Given the description of an element on the screen output the (x, y) to click on. 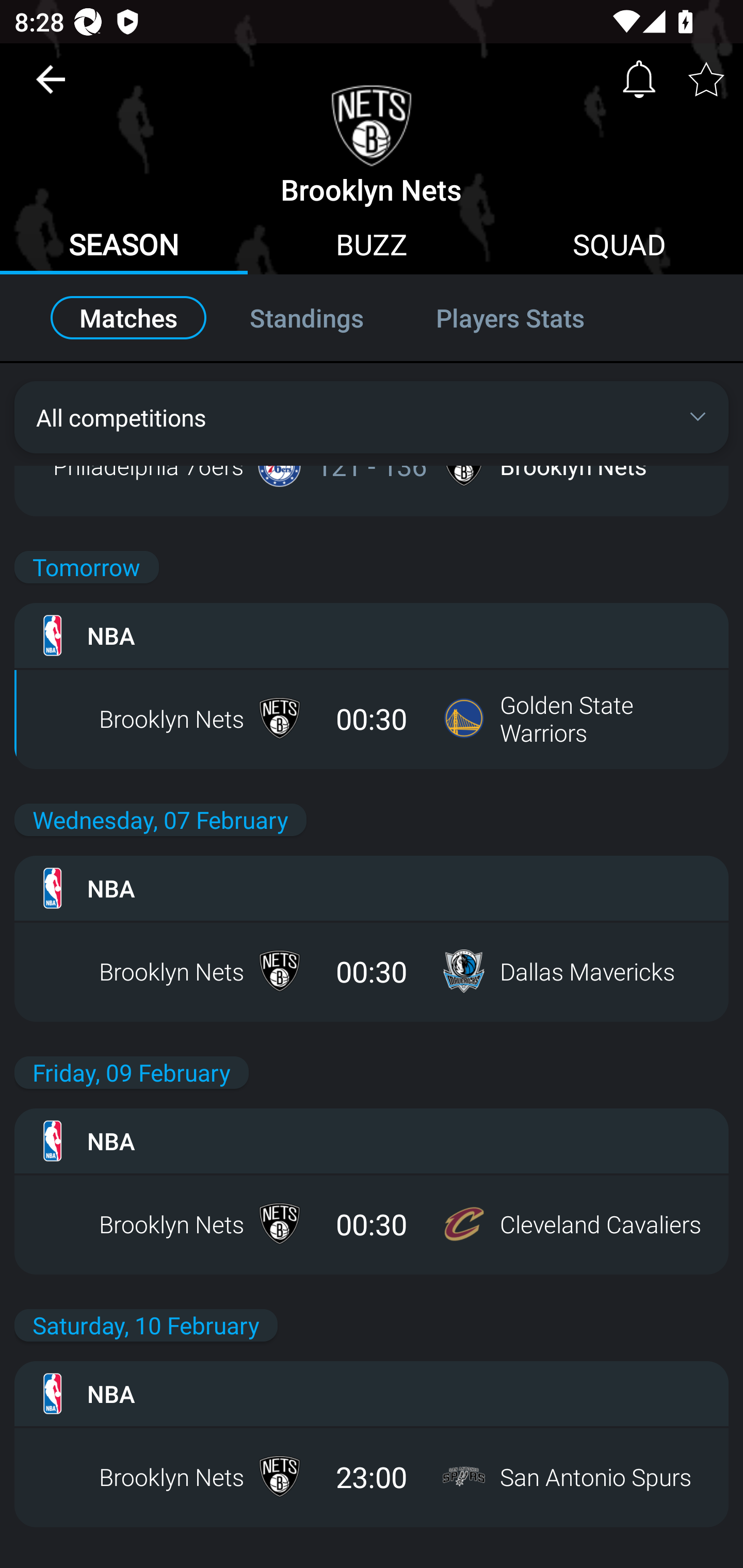
Navigate up (50, 86)
SEASON (123, 246)
BUZZ (371, 246)
SQUAD (619, 246)
Standings (306, 317)
Players Stats (531, 317)
All competitions (371, 417)
NBA (371, 635)
Brooklyn Nets 00:30 Golden State Warriors (371, 717)
NBA (371, 888)
Brooklyn Nets 00:30 Dallas Mavericks (371, 971)
NBA (371, 1140)
Brooklyn Nets 00:30 Cleveland Cavaliers (371, 1223)
NBA (371, 1393)
Brooklyn Nets 23:00 San Antonio Spurs (371, 1476)
